Given the description of an element on the screen output the (x, y) to click on. 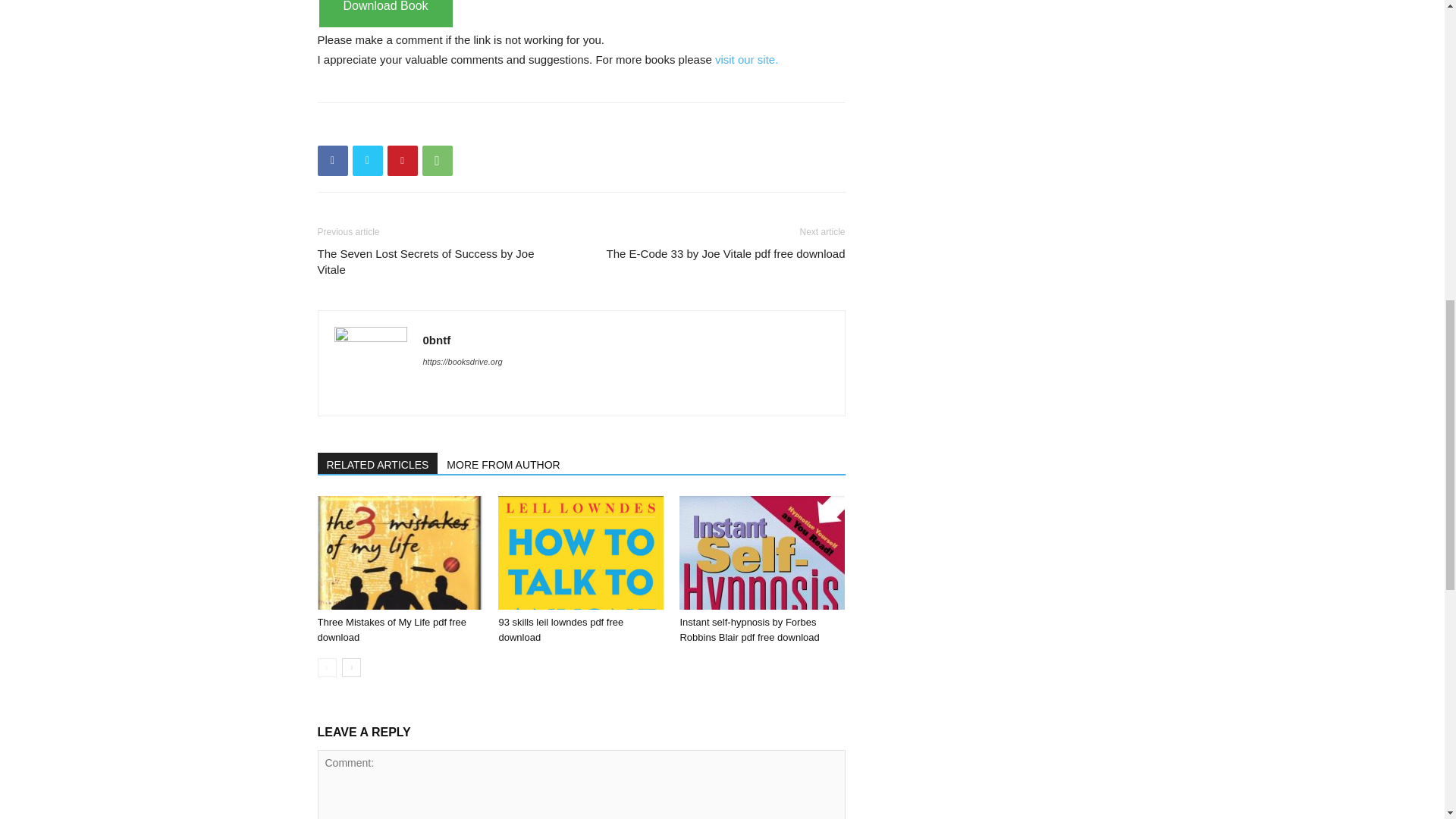
Facebook (332, 160)
Twitter (366, 160)
Pinterest (401, 160)
WhatsApp (436, 160)
bottomFacebookLike (430, 126)
